Given the description of an element on the screen output the (x, y) to click on. 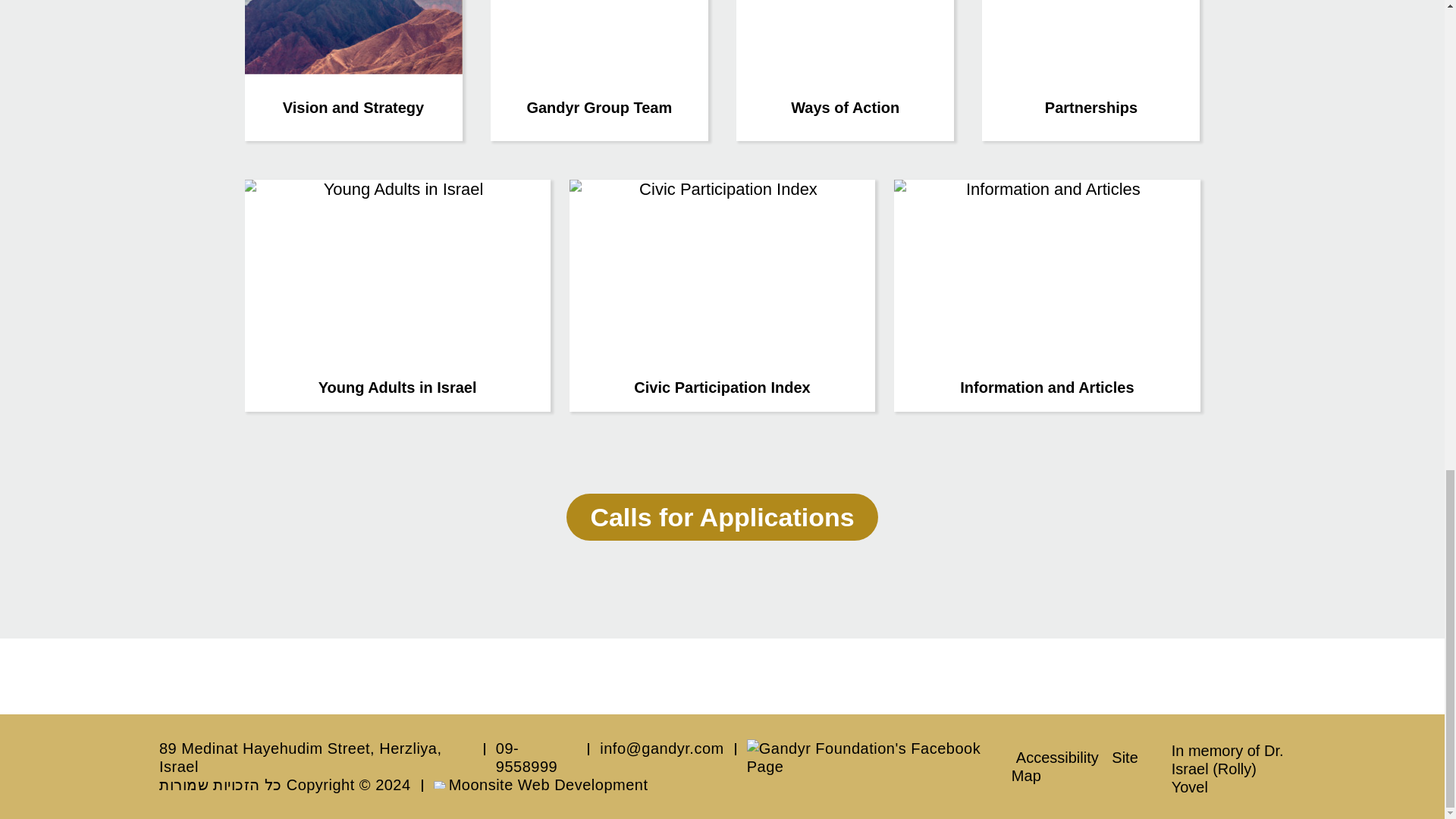
Ways of Action (844, 70)
Gandyr Group Team (598, 70)
Vision and Strategy (352, 70)
Partnerships (1090, 70)
Information and Articles (1046, 295)
Civic Participation Index (722, 295)
Site Map (1074, 766)
Accessibility (1057, 757)
Young Adults in Israel (397, 295)
